Given the description of an element on the screen output the (x, y) to click on. 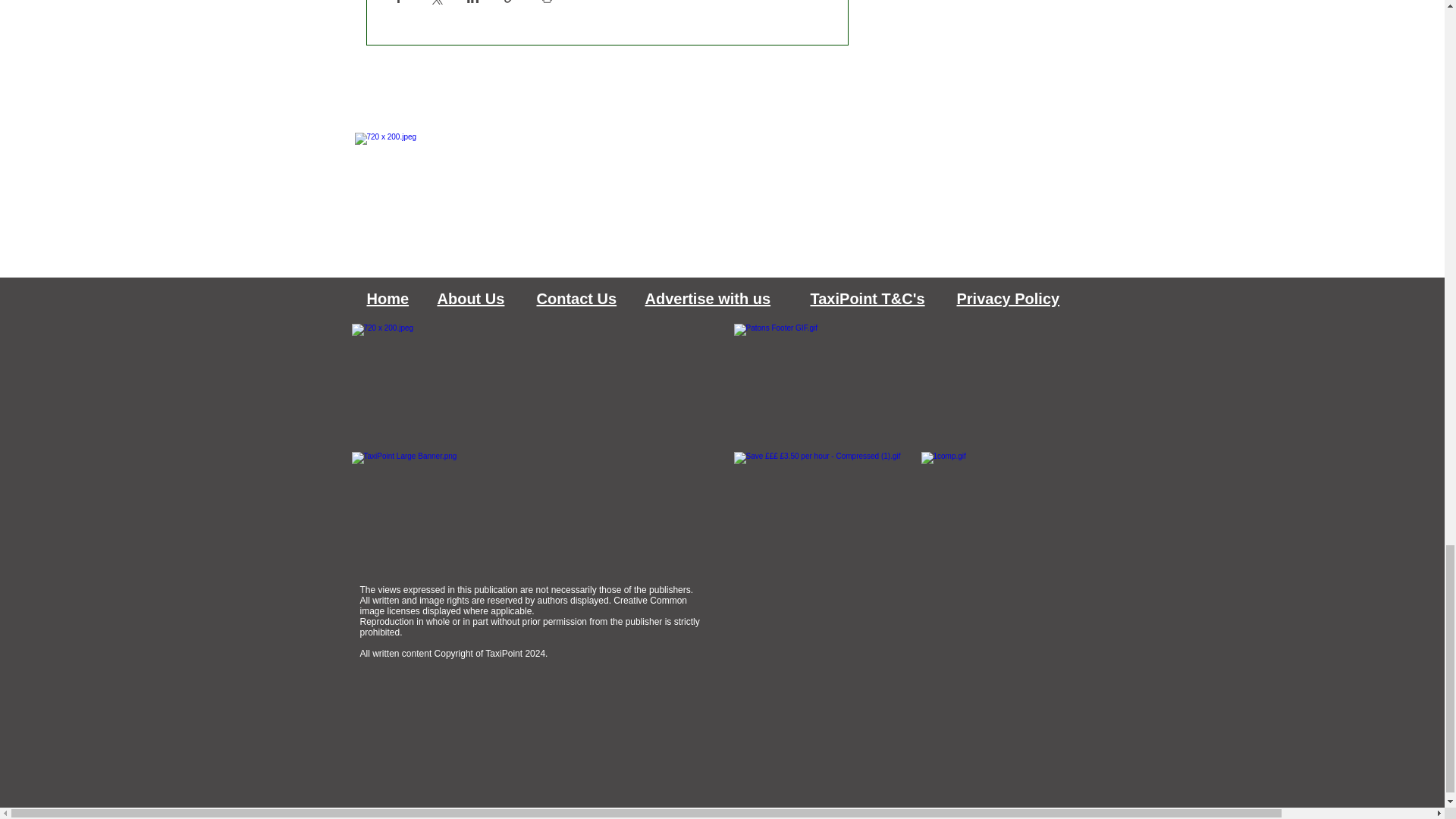
Home (387, 298)
Contact Us (577, 298)
About Us (469, 298)
Advertise with us (707, 298)
Privacy Policy (1007, 298)
